Given the description of an element on the screen output the (x, y) to click on. 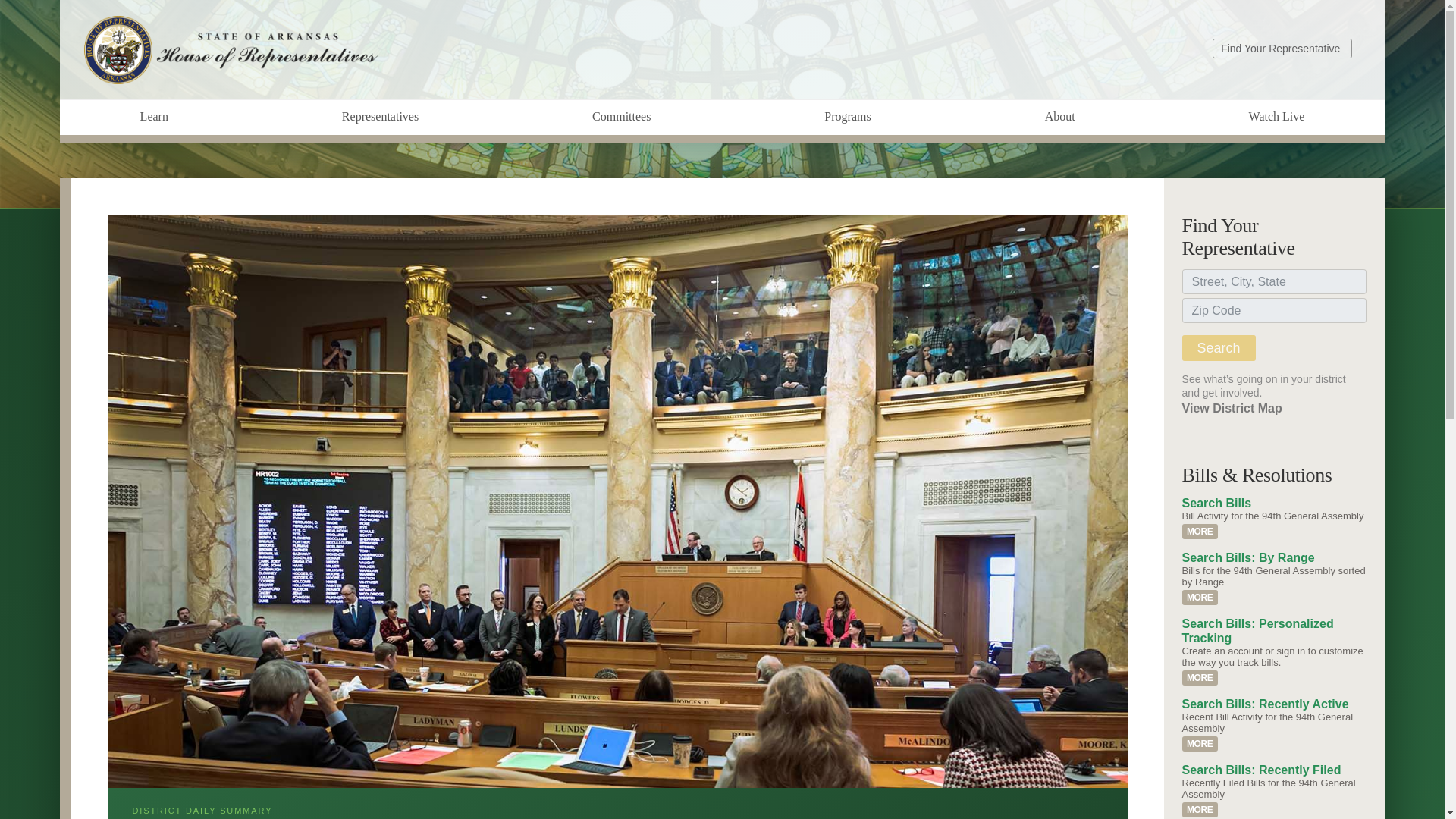
Find Your Representative (1282, 47)
MORE (1199, 597)
View District Map (1232, 408)
Committees (621, 117)
About (1059, 117)
MORE (1199, 677)
Learn (154, 117)
MORE (1199, 743)
Permalink (1199, 531)
Permalink (1199, 597)
Permalink (1199, 809)
Permalink (1199, 677)
Search (1218, 347)
Watch Live (1276, 117)
MORE (1199, 531)
